Given the description of an element on the screen output the (x, y) to click on. 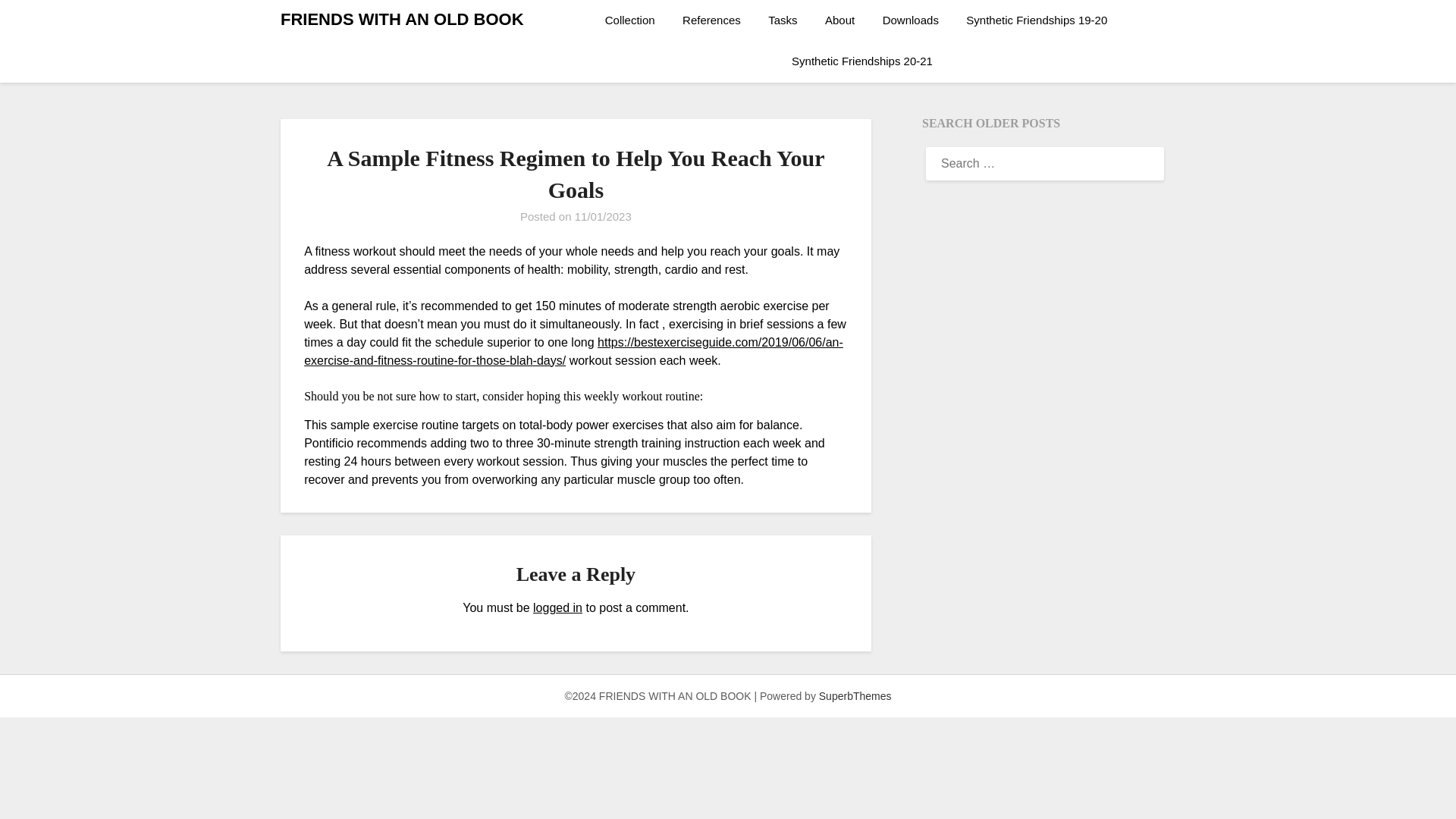
Search (38, 22)
SuperbThemes (854, 695)
Tasks (782, 20)
Synthetic Friendships 20-21 (861, 60)
logged in (557, 607)
Collection (635, 20)
Synthetic Friendships 19-20 (1036, 20)
About (839, 20)
FRIENDS WITH AN OLD BOOK (402, 19)
Downloads (910, 20)
